Given the description of an element on the screen output the (x, y) to click on. 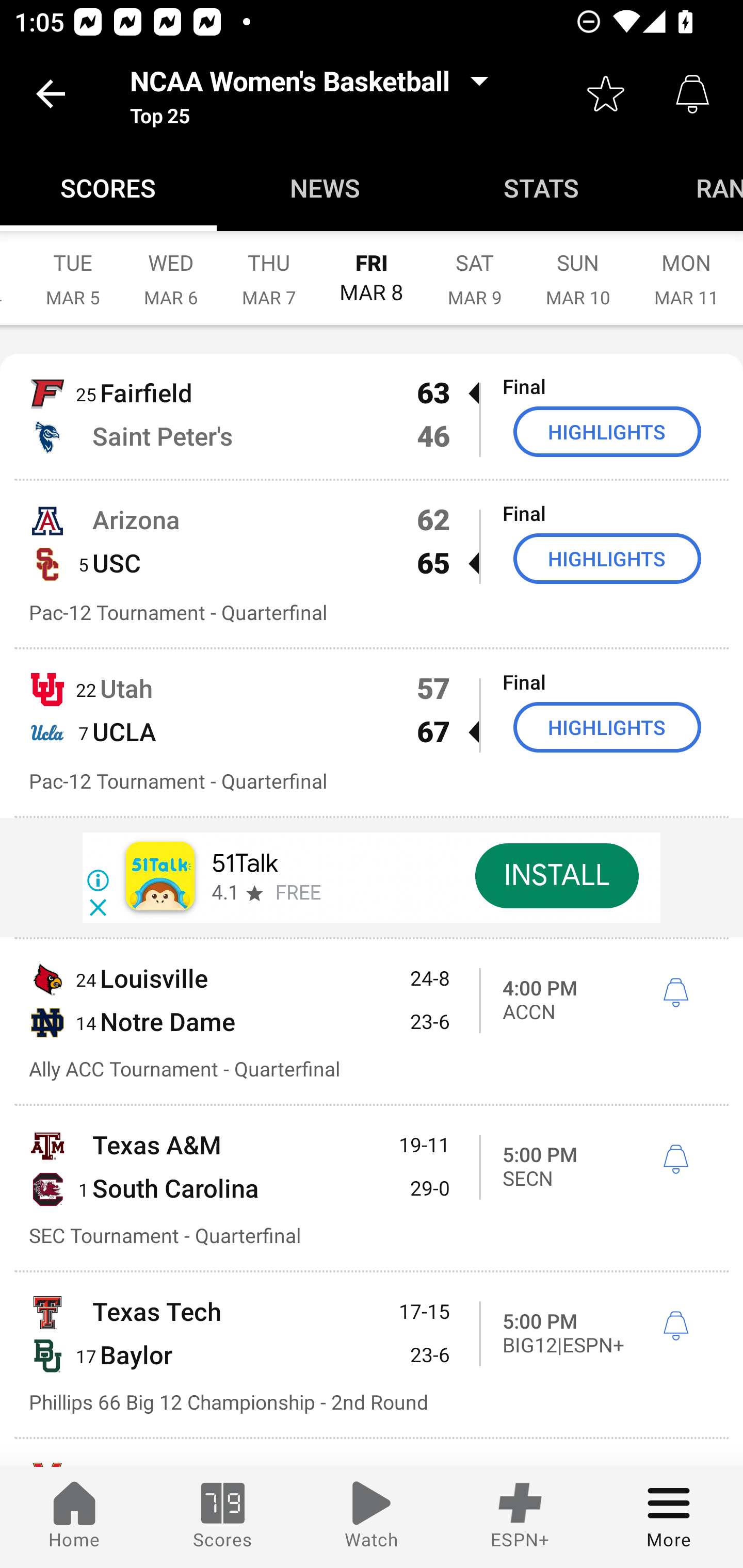
NCAA Women's Basketball Top 25 (315, 93)
Favorite toggle (605, 93)
Alerts (692, 93)
News NEWS (324, 187)
Stats STATS (541, 187)
Rankings RANKINGS (696, 187)
TUE MAR 5 (72, 268)
WED MAR 6 (170, 268)
THU MAR 7 (268, 268)
FRI MAR 8 (371, 267)
SAT MAR 9 (474, 268)
SUN MAR 10 (577, 268)
MON MAR 11 (686, 268)
HIGHLIGHTS (607, 431)
HIGHLIGHTS (607, 558)
HIGHLIGHTS (607, 727)
INSTALL (556, 875)
51Talk (244, 863)
4.1 (224, 893)
FREE (298, 893)
í (675, 992)
í (675, 1159)
í (675, 1326)
Home (74, 1517)
Scores (222, 1517)
Watch (371, 1517)
ESPN+ (519, 1517)
